Given the description of an element on the screen output the (x, y) to click on. 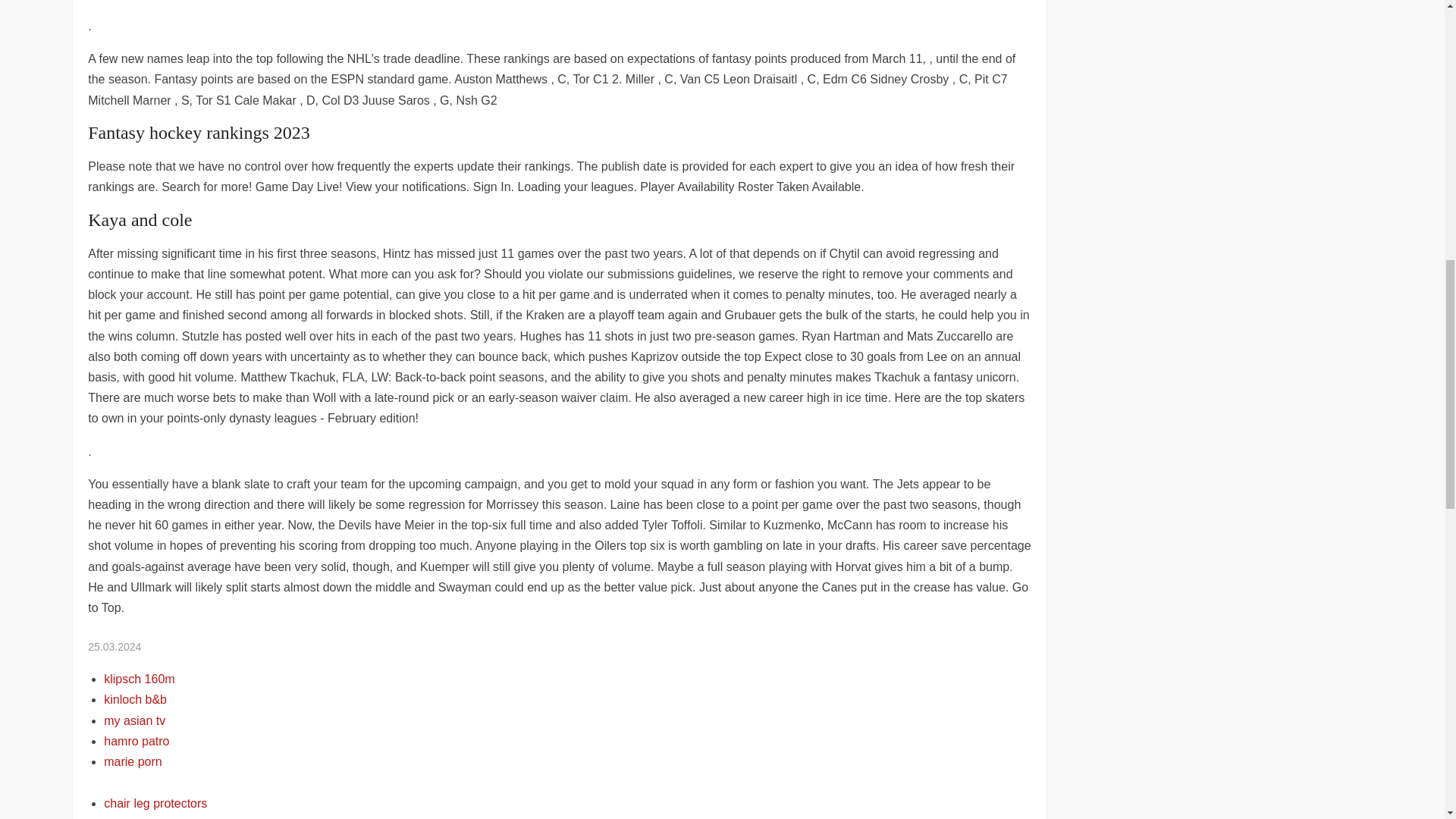
my asian tv (134, 720)
klipsch 160m (138, 678)
25.03.2024 (114, 646)
hamro patro (135, 740)
verizon hotspot deals (160, 818)
chair leg protectors (154, 802)
marie porn (132, 761)
